Given the description of an element on the screen output the (x, y) to click on. 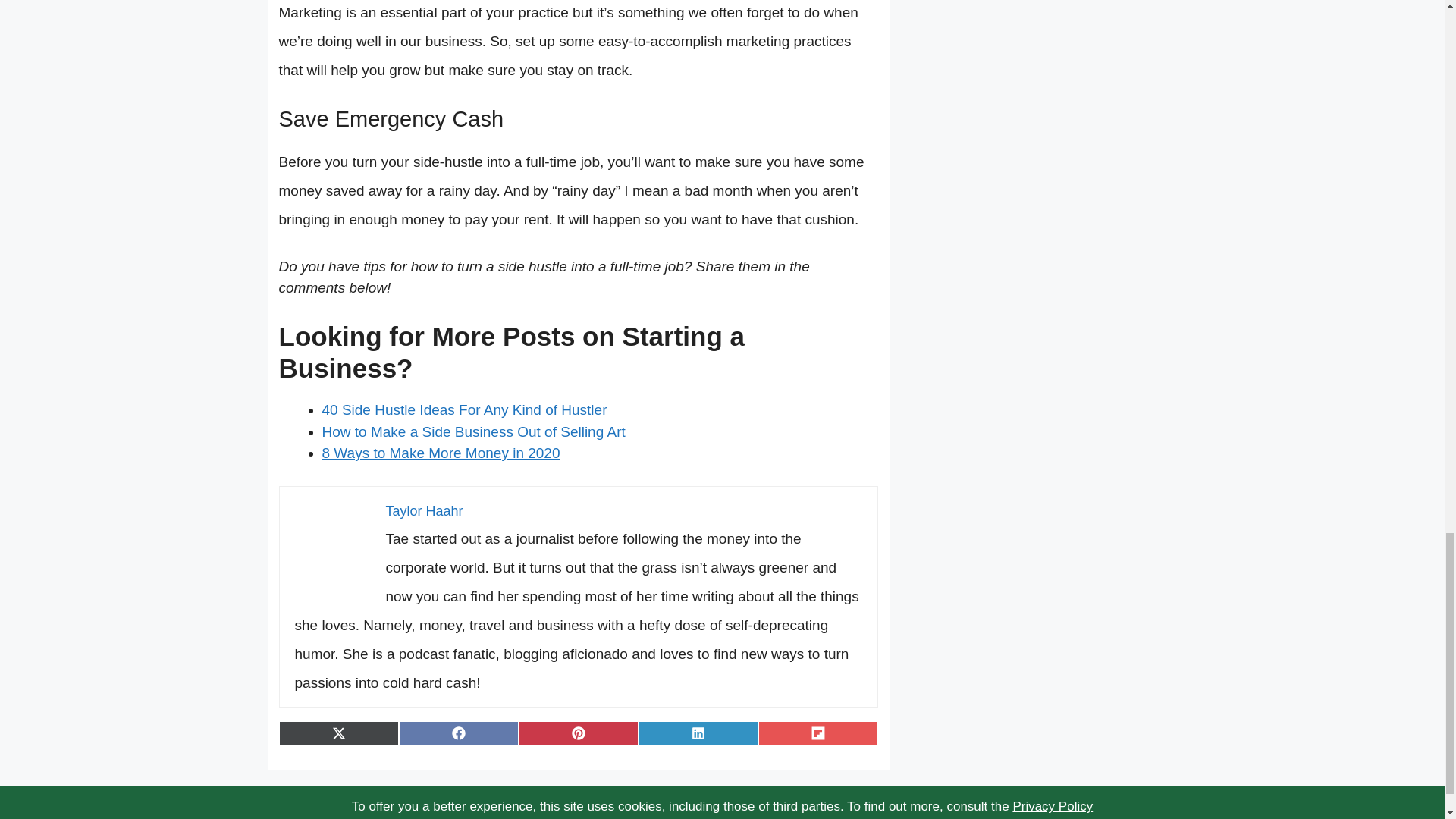
How to Make a Side Business Out of Selling Art (472, 431)
Share on Facebook (458, 733)
Share on Flip it (817, 733)
Share on Pinterest (578, 733)
40 Side Hustle Ideas For Any Kind of Hustler (464, 409)
Taylor Haahr (424, 510)
Share on LinkedIn (698, 733)
8 Ways to Make More Money in 2020 (440, 453)
